Given the description of an element on the screen output the (x, y) to click on. 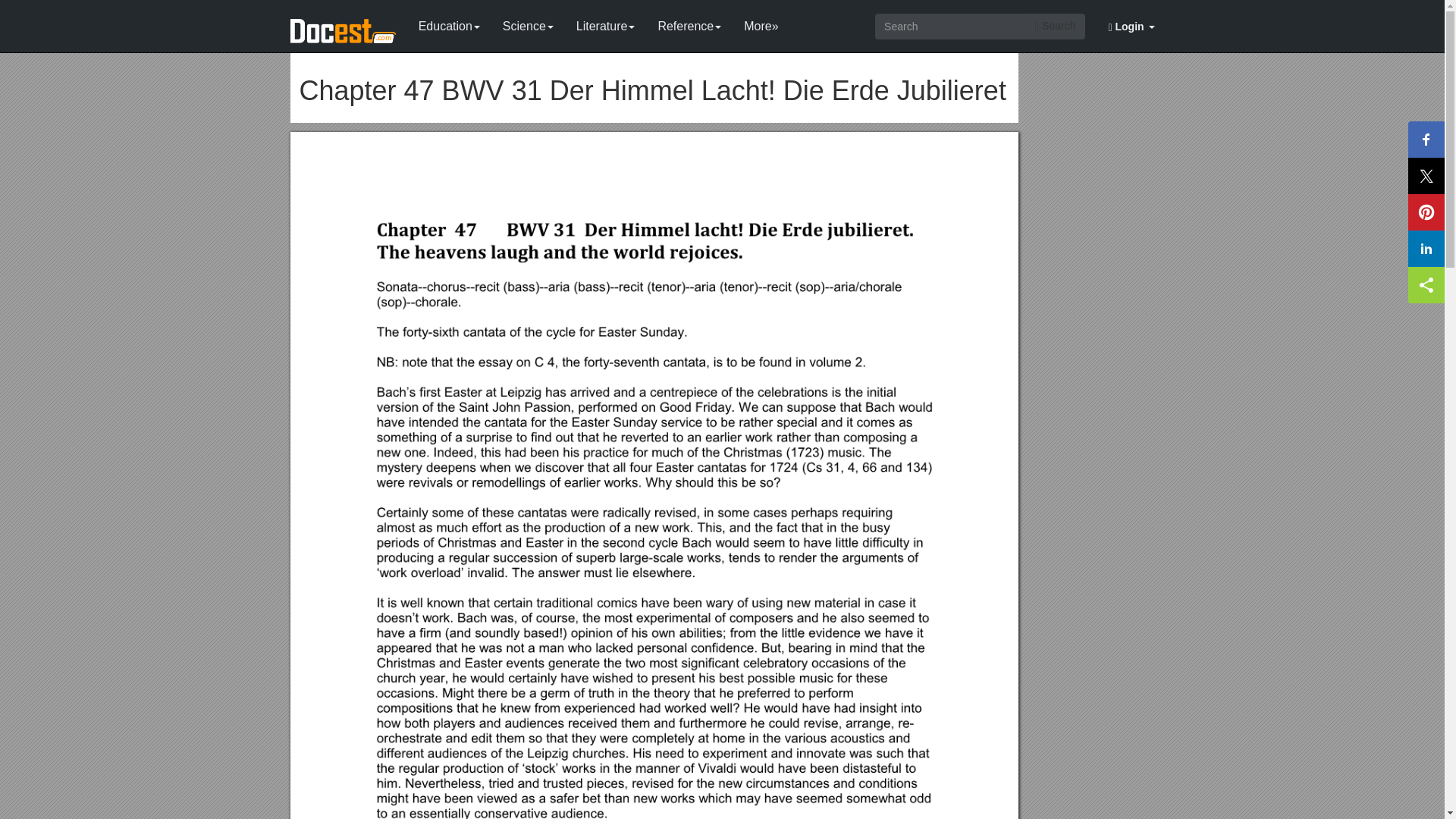
Reference (689, 22)
Science (528, 22)
Education (449, 22)
Literature (605, 22)
